Given the description of an element on the screen output the (x, y) to click on. 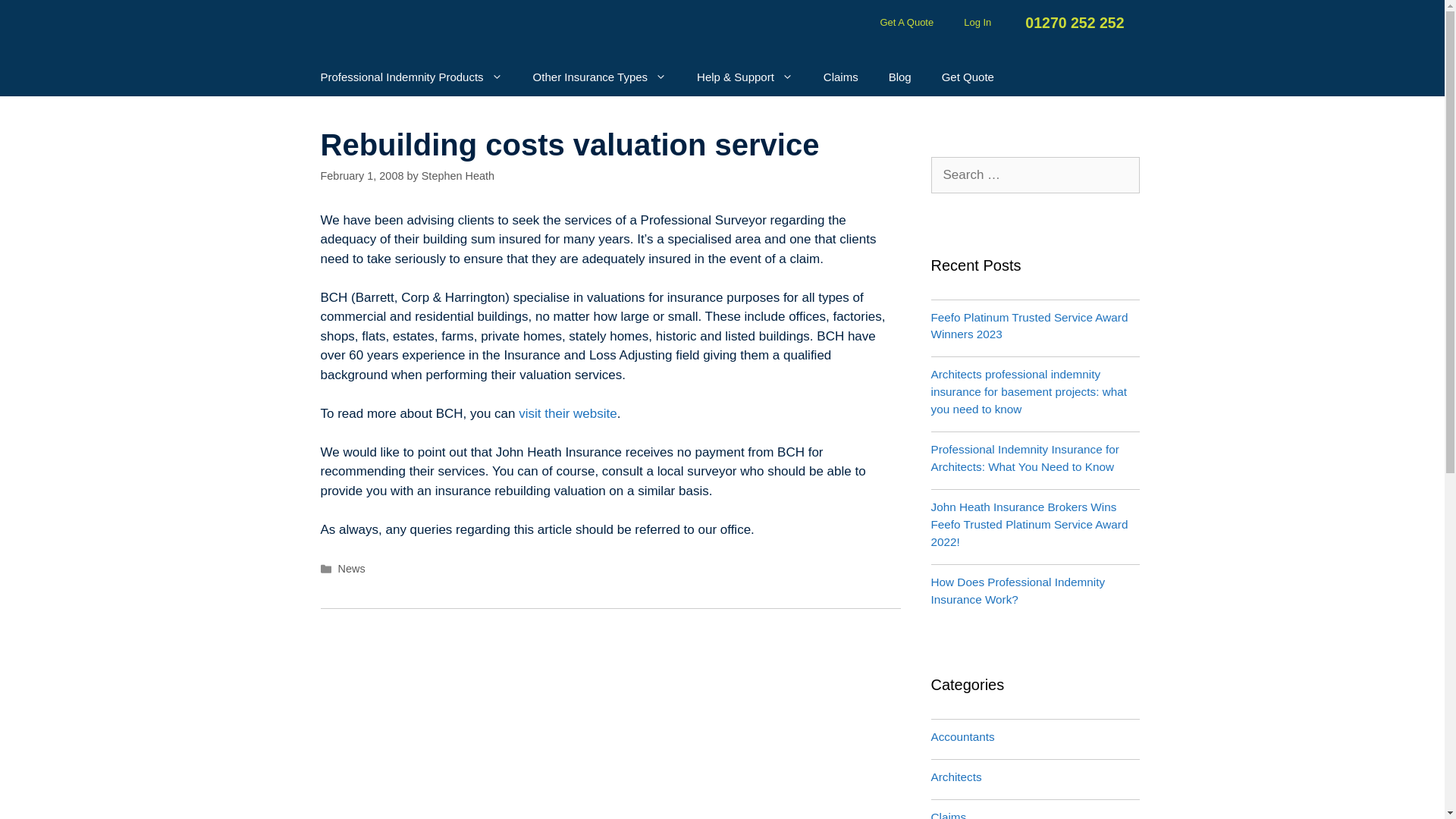
Get A Quote (906, 22)
Search for: (1035, 175)
Log In (977, 22)
View all posts by Stephen Heath (458, 175)
01270 252 252 (1072, 23)
